Given the description of an element on the screen output the (x, y) to click on. 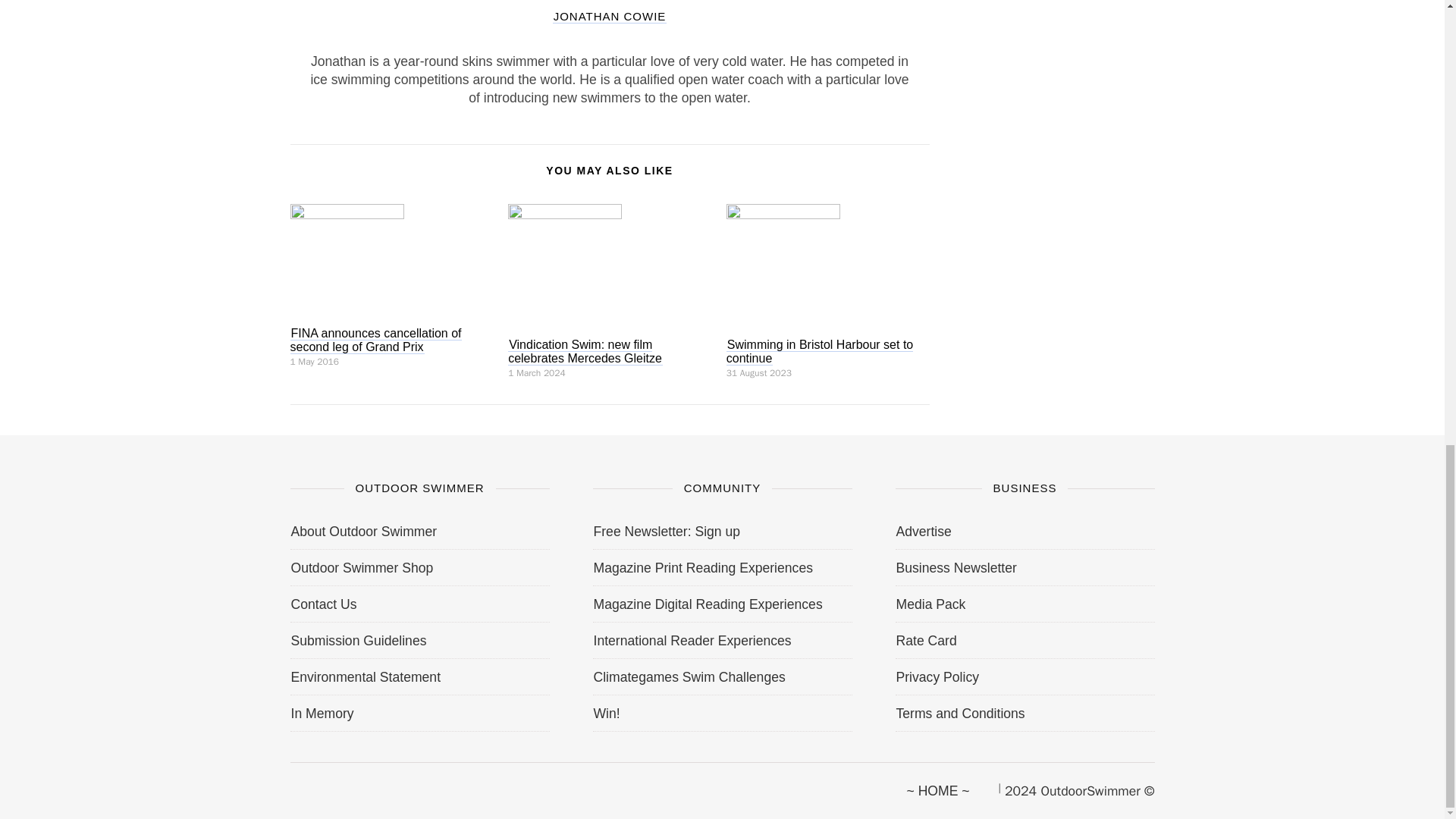
Posts by Jonathan Cowie (609, 15)
